Given the description of an element on the screen output the (x, y) to click on. 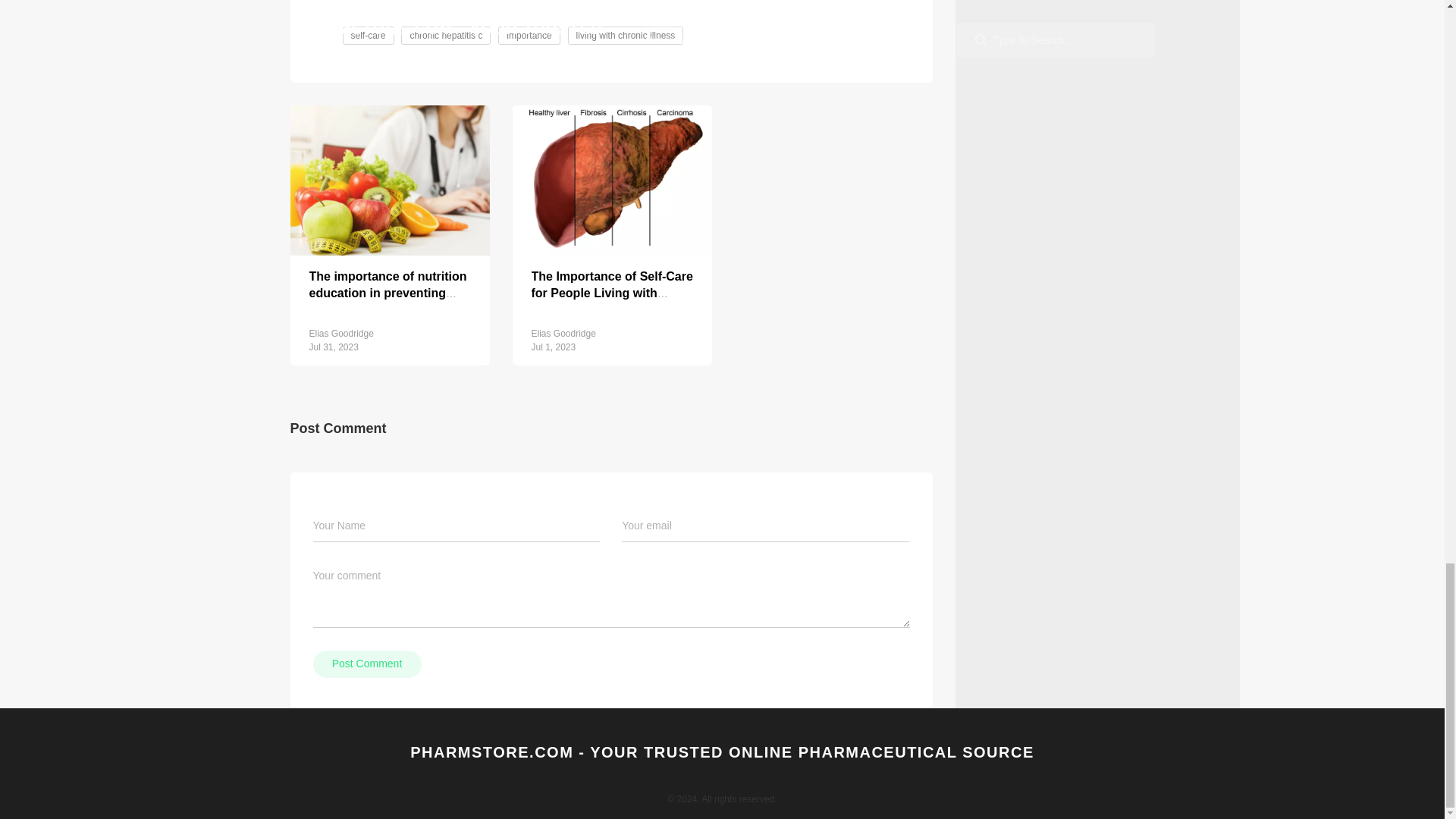
self-care (367, 35)
Post Comment (366, 664)
importance (529, 35)
living with chronic illness (625, 35)
Elias Goodridge (341, 333)
Elias Goodridge (563, 333)
The importance of nutrition education in preventing obesity (387, 293)
chronic hepatitis c (445, 35)
